Given the description of an element on the screen output the (x, y) to click on. 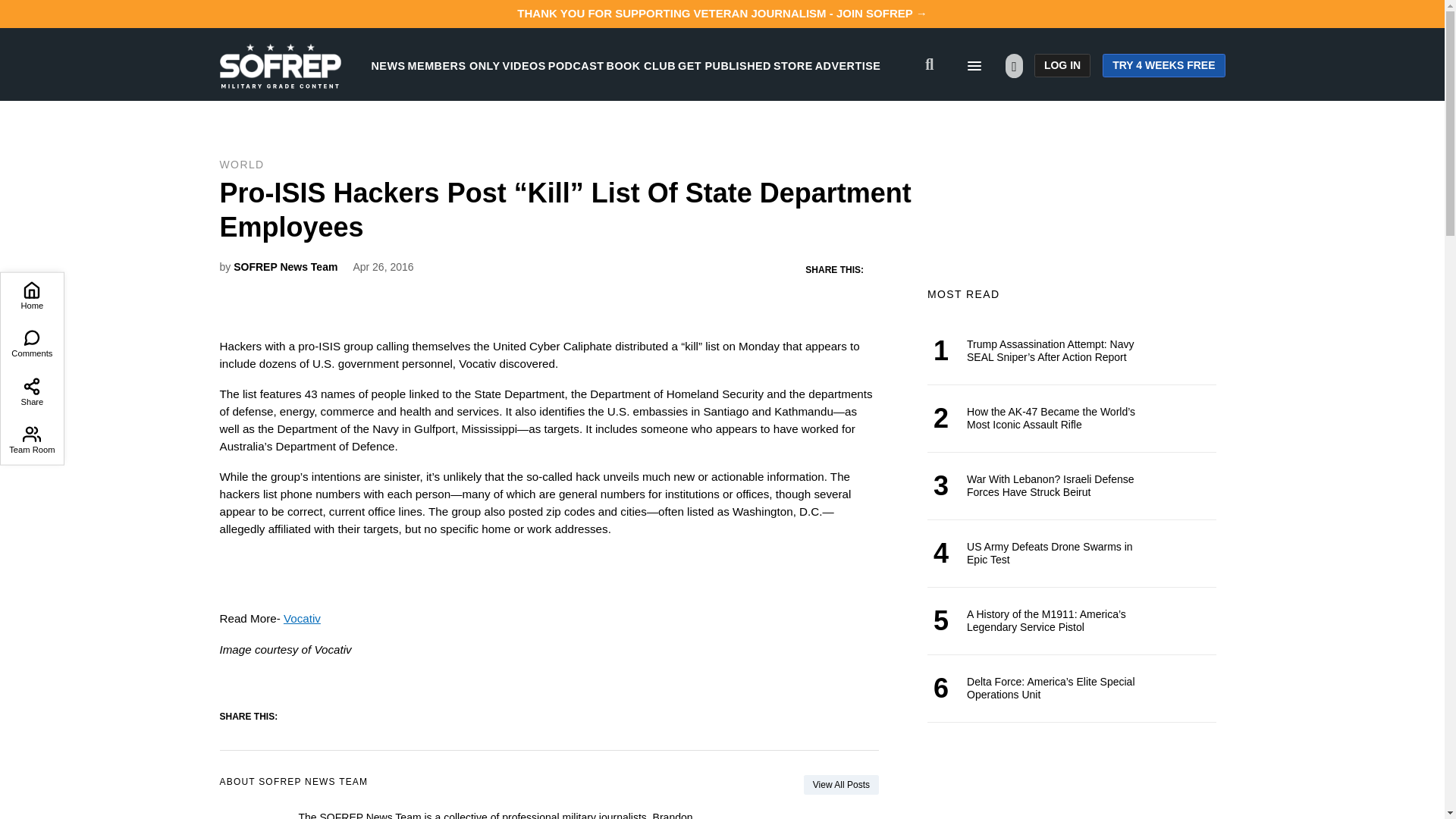
LOG IN (1061, 65)
TRY 4 WEEKS FREE (1163, 65)
GET PUBLISHED (724, 65)
BOOK CLUB (641, 65)
NEWS (388, 65)
PODCAST (576, 65)
VIDEOS (524, 65)
ADVERTISE (847, 65)
STORE (792, 65)
MEMBERS ONLY (453, 65)
